Given the description of an element on the screen output the (x, y) to click on. 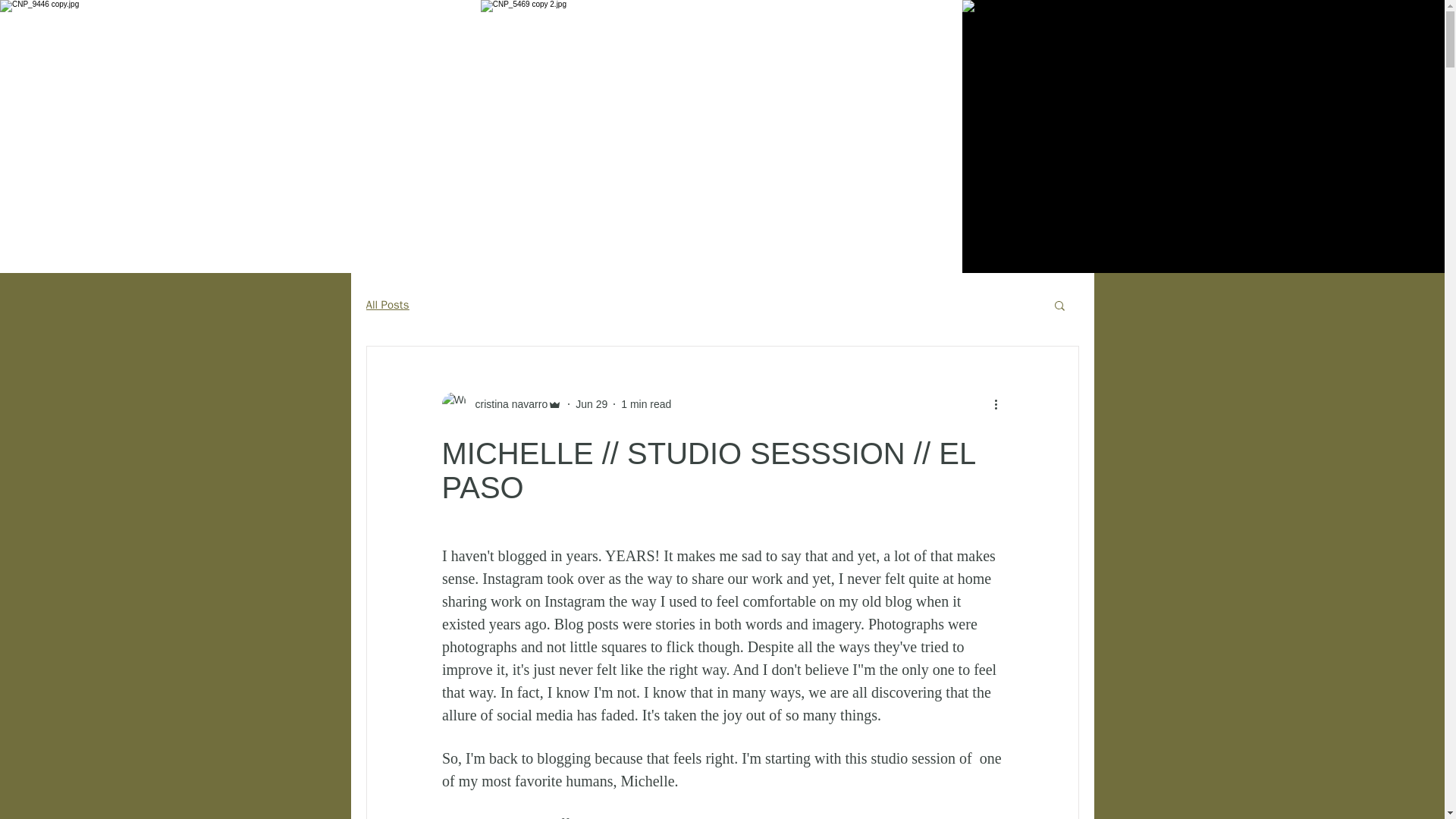
1 min read (646, 403)
cristina navarro (501, 404)
All Posts (387, 304)
Jun 29 (591, 403)
cristina navarro (506, 403)
